Given the description of an element on the screen output the (x, y) to click on. 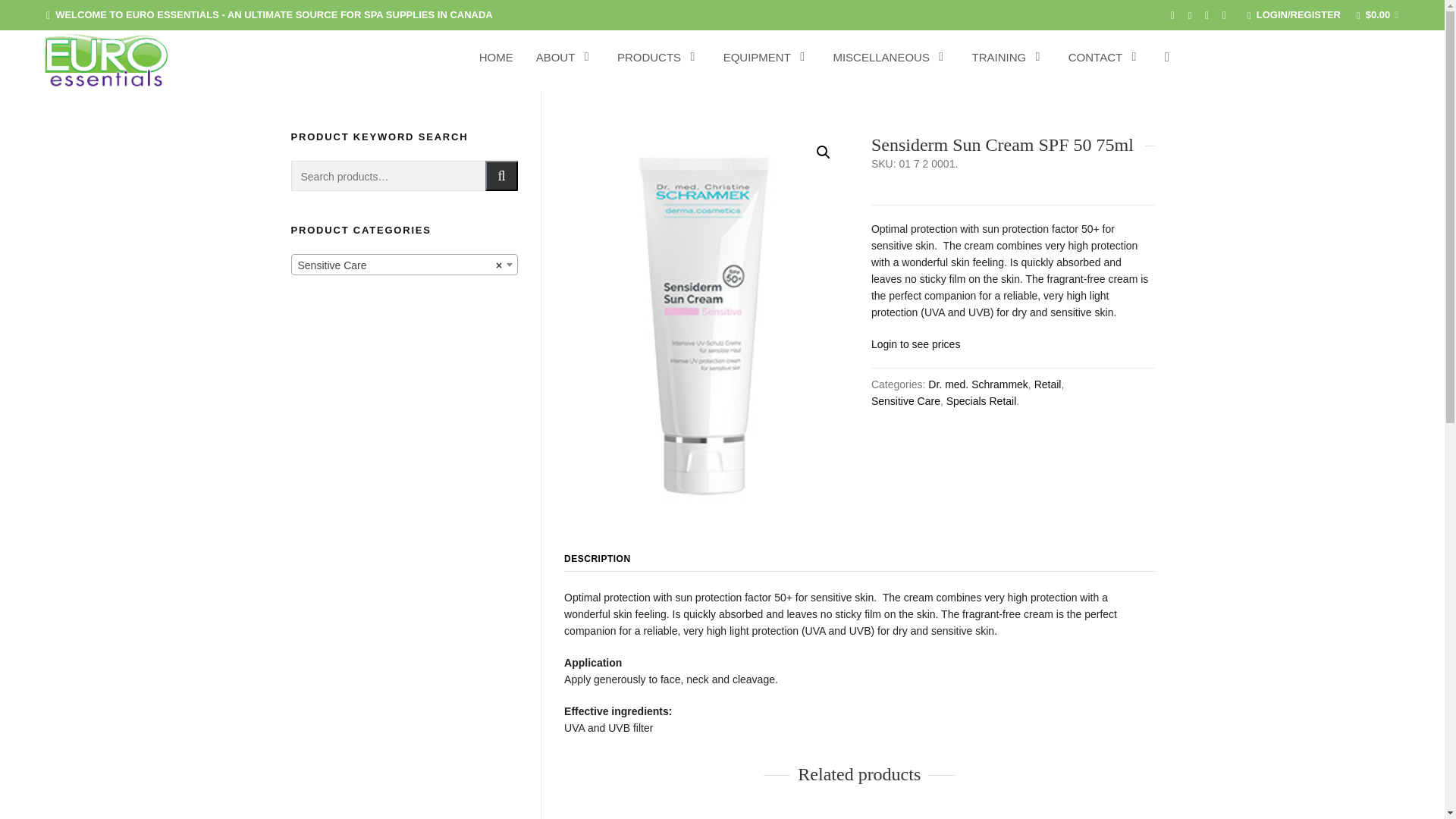
Sensitive Care (403, 265)
